Given the description of an element on the screen output the (x, y) to click on. 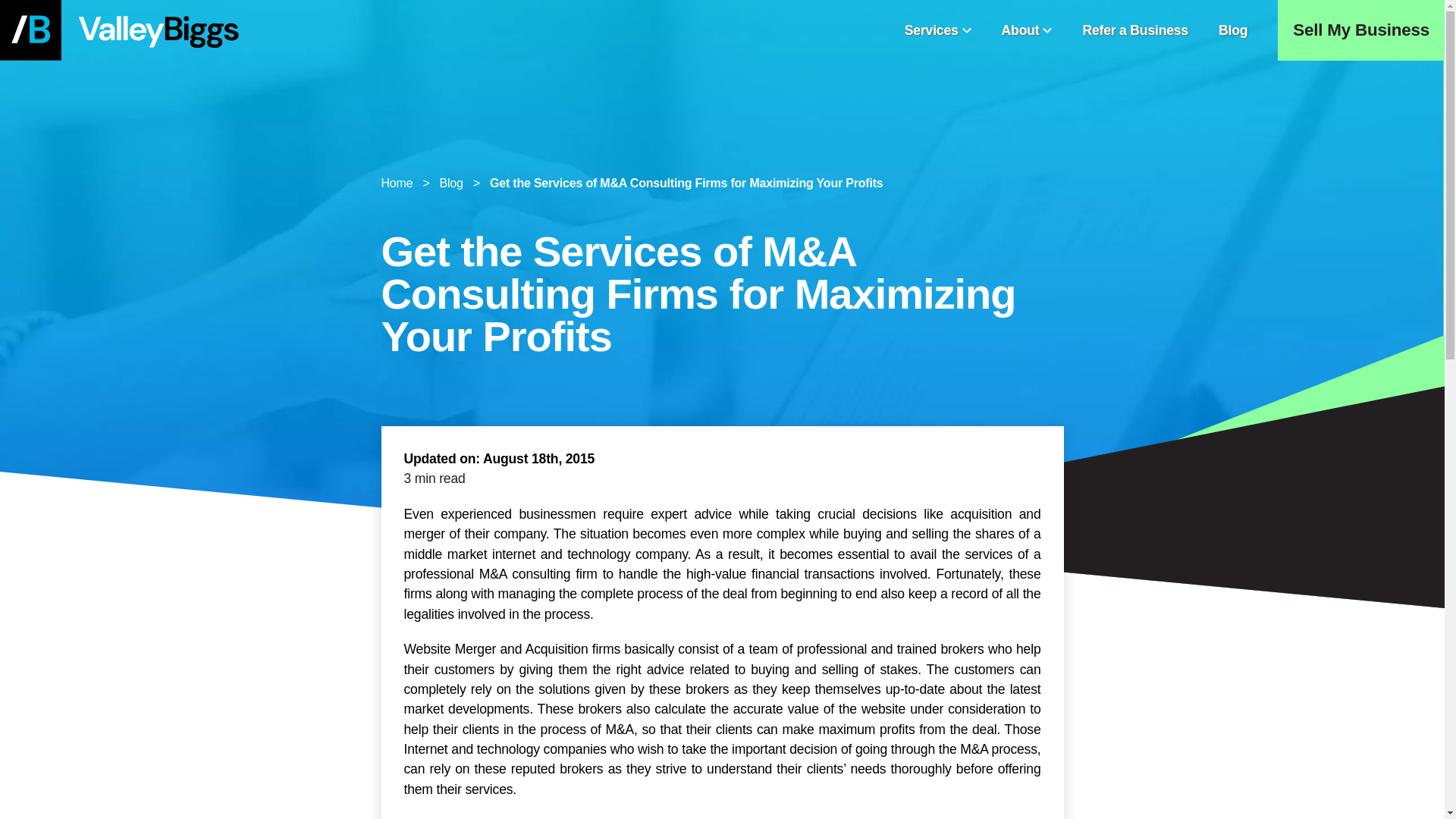
Blog (451, 183)
Services (937, 30)
Refer a Business (1134, 30)
Home (396, 183)
